Given the description of an element on the screen output the (x, y) to click on. 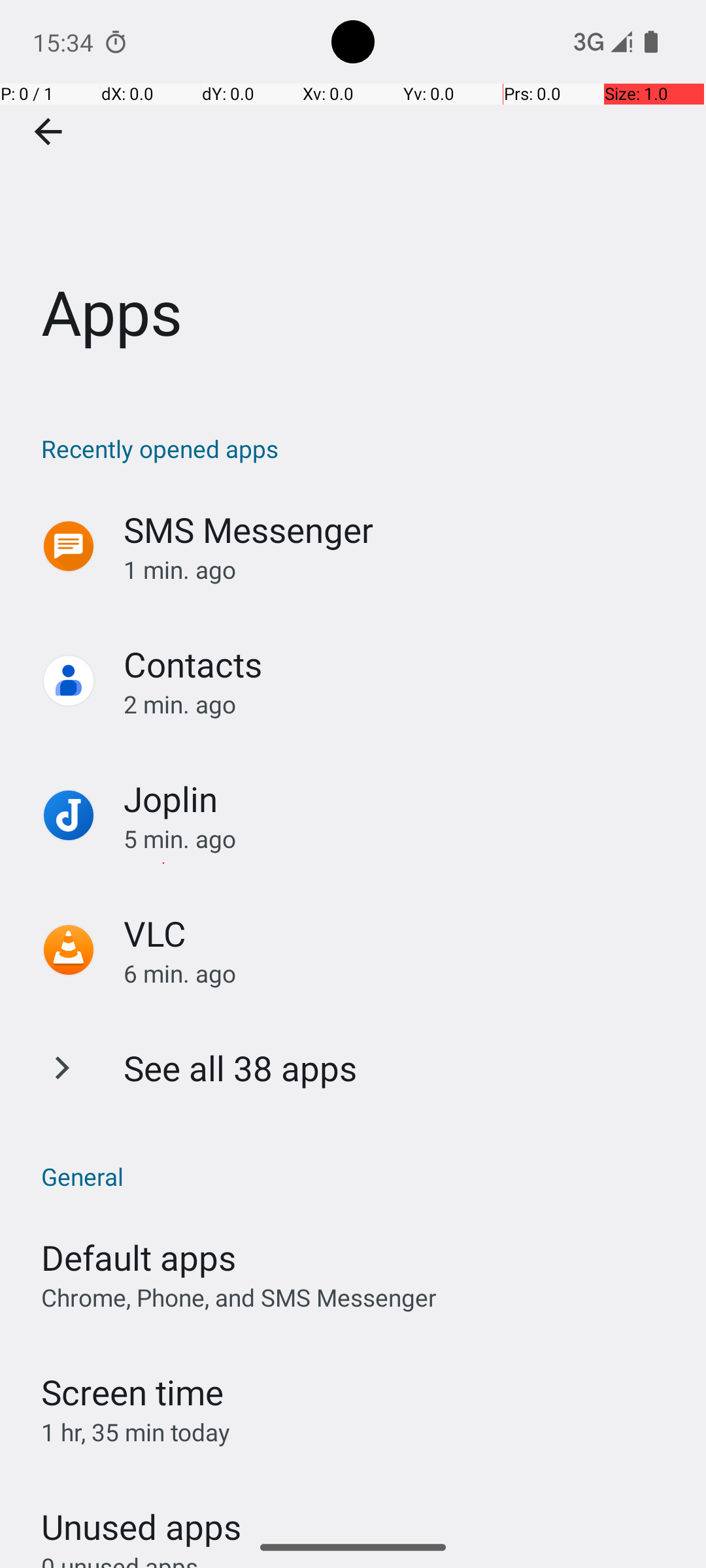
5 min. ago Element type: android.widget.TextView (400, 838)
6 min. ago Element type: android.widget.TextView (400, 972)
See all 38 apps Element type: android.widget.TextView (239, 1067)
1 hr, 35 min today Element type: android.widget.TextView (135, 1431)
